Given the description of an element on the screen output the (x, y) to click on. 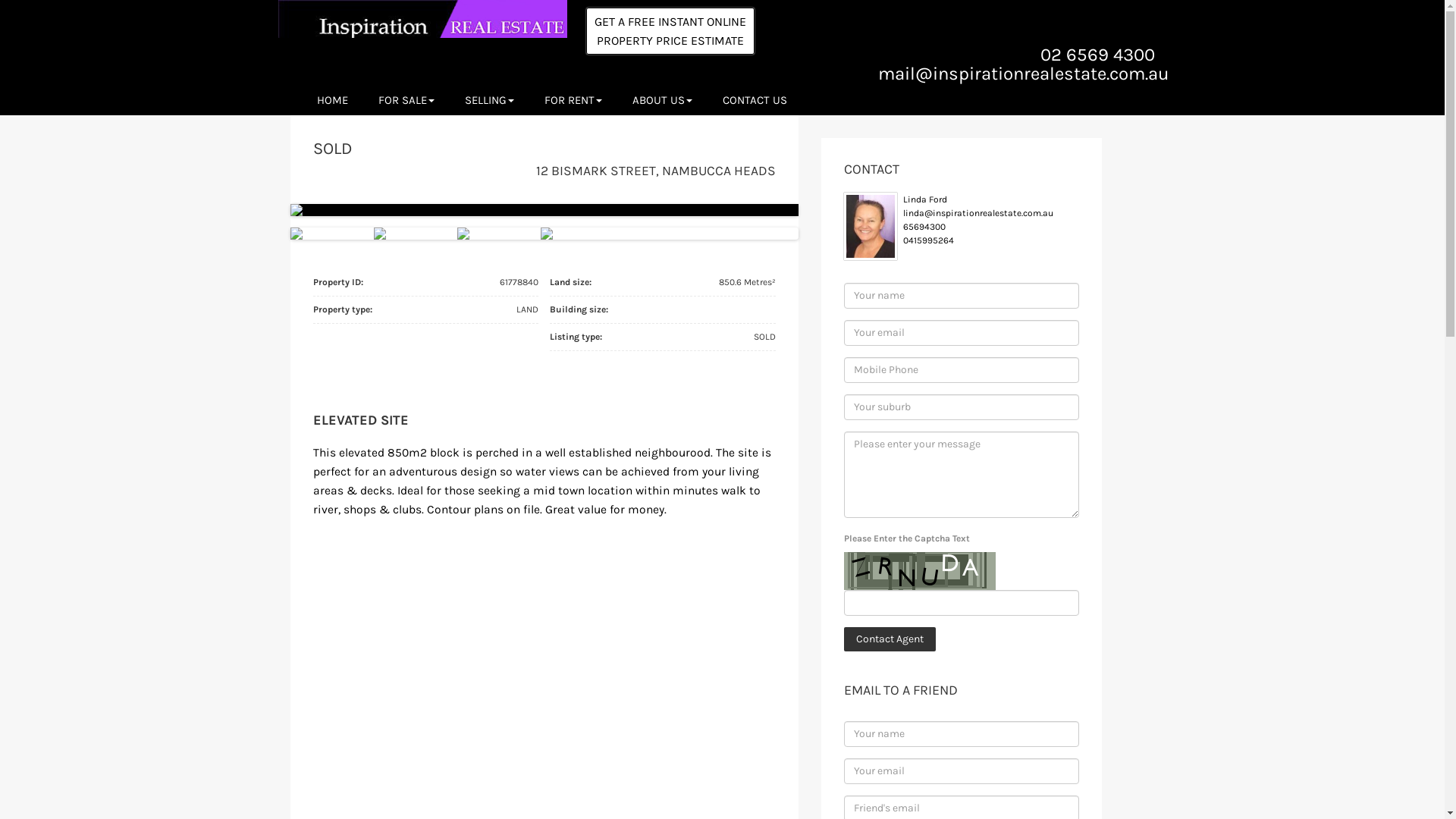
Inspiration Real Estate Logo Element type: hover (421, 18)
FOR SALE Element type: text (405, 99)
HOME Element type: text (332, 99)
65694300 Element type: text (923, 226)
02 6569 4300 Element type: text (1097, 54)
FOR RENT Element type: text (573, 99)
ABOUT US Element type: text (662, 99)
* Please provide valid phone number Element type: hover (960, 369)
CONTACT US Element type: text (753, 99)
0415995264 Element type: text (927, 240)
SELLING Element type: text (488, 99)
GET A FREE INSTANT ONLINE
PROPERTY PRICE ESTIMATE Element type: text (669, 30)
Linda Ford Element type: text (924, 199)
mail@inspirationrealestate.com.au Element type: text (1023, 73)
linda@inspirationrealestate.com.au Element type: text (977, 212)
Contact Agent Element type: text (889, 639)
